Given the description of an element on the screen output the (x, y) to click on. 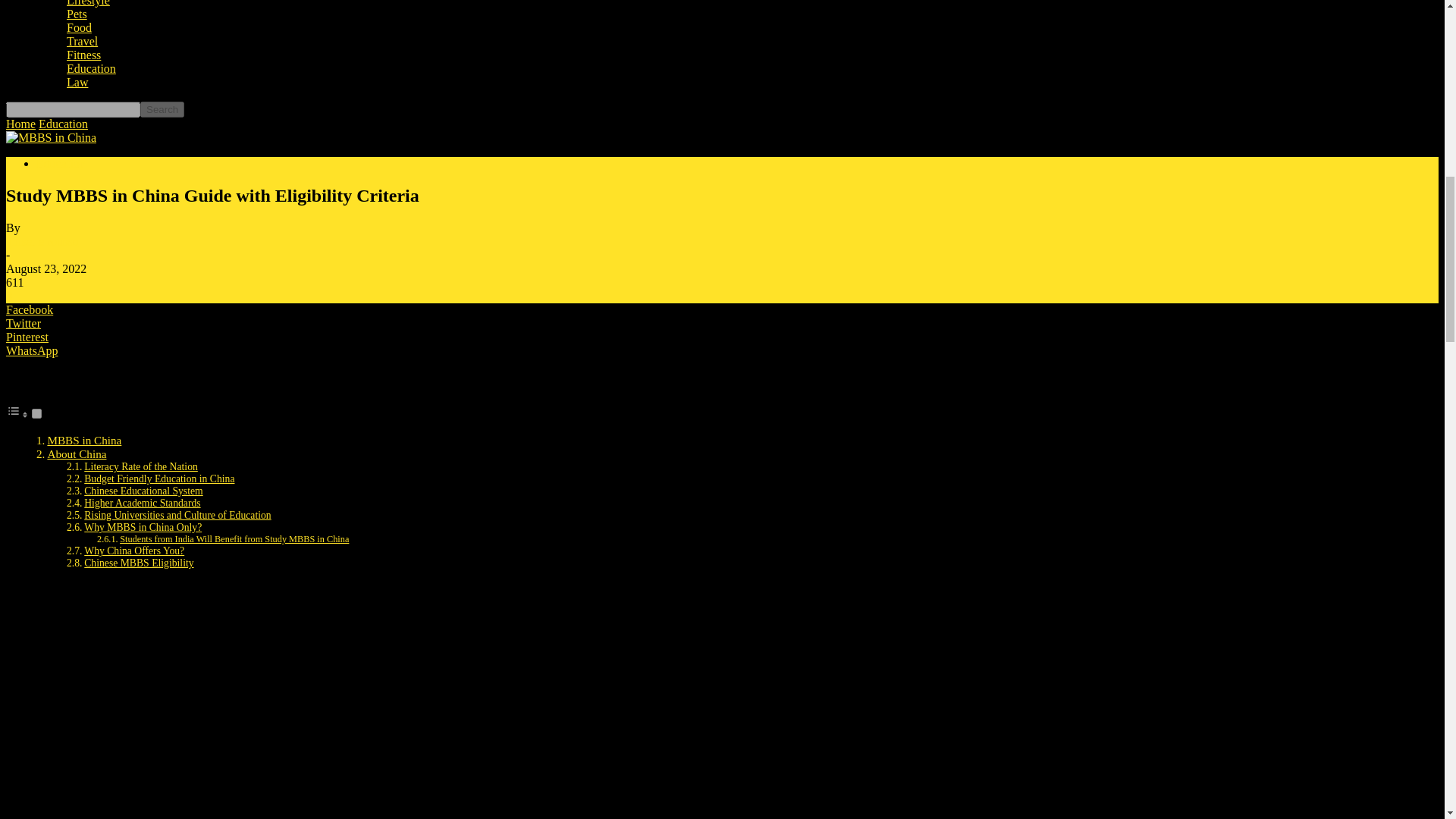
MBBS in China (83, 440)
Literacy Rate of the Nation (141, 466)
Budget Friendly Education in China (159, 478)
View all posts in Education (63, 123)
Search (161, 109)
About China (76, 453)
on (37, 413)
MBBS in China (50, 137)
